Given the description of an element on the screen output the (x, y) to click on. 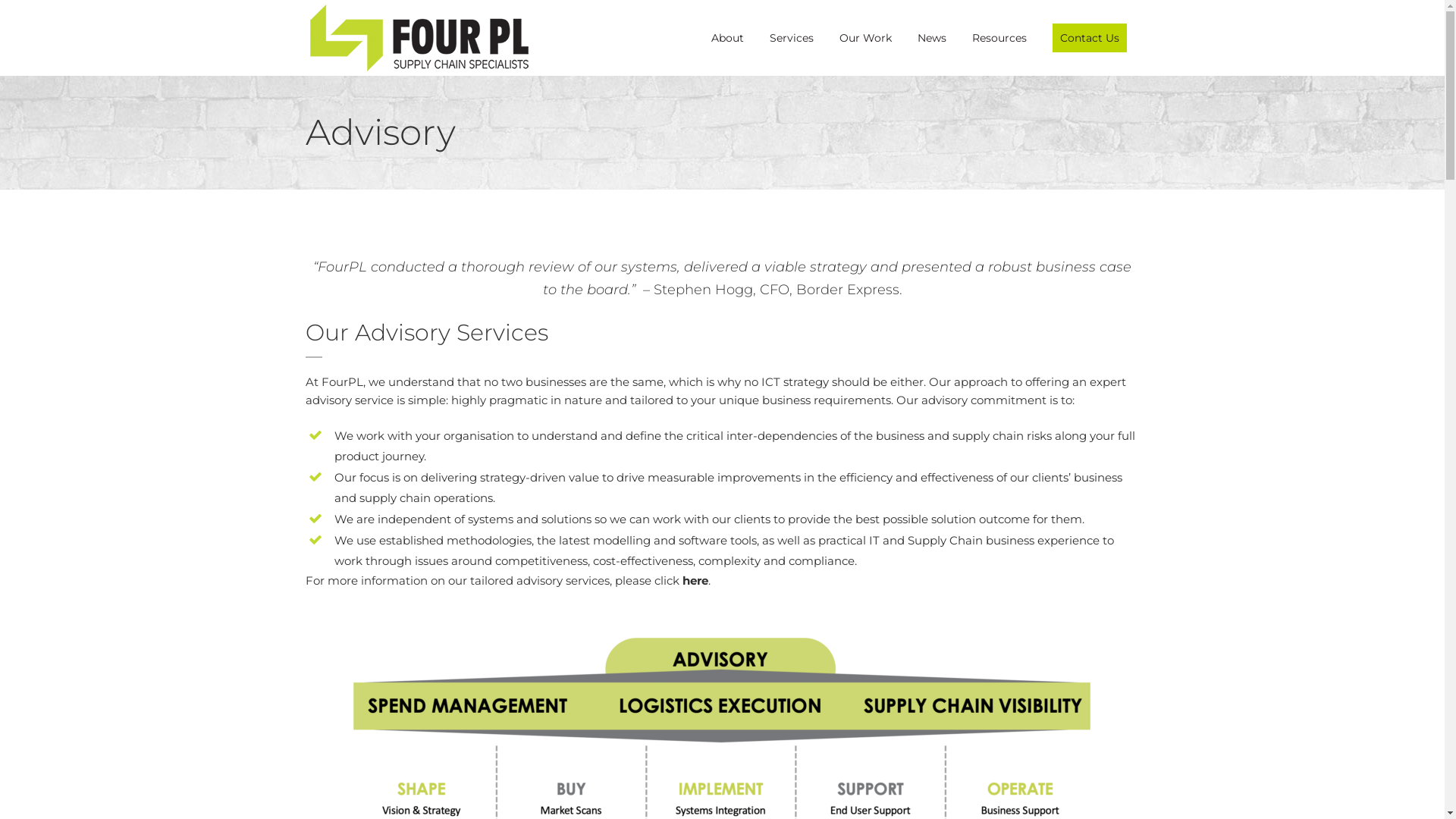
here Element type: text (695, 580)
Resources Element type: text (998, 37)
About Element type: text (726, 37)
Border Express Element type: text (847, 289)
News Element type: text (930, 37)
Services Element type: text (791, 37)
Our Work Element type: text (865, 37)
Contact Us Element type: text (1088, 37)
